Given the description of an element on the screen output the (x, y) to click on. 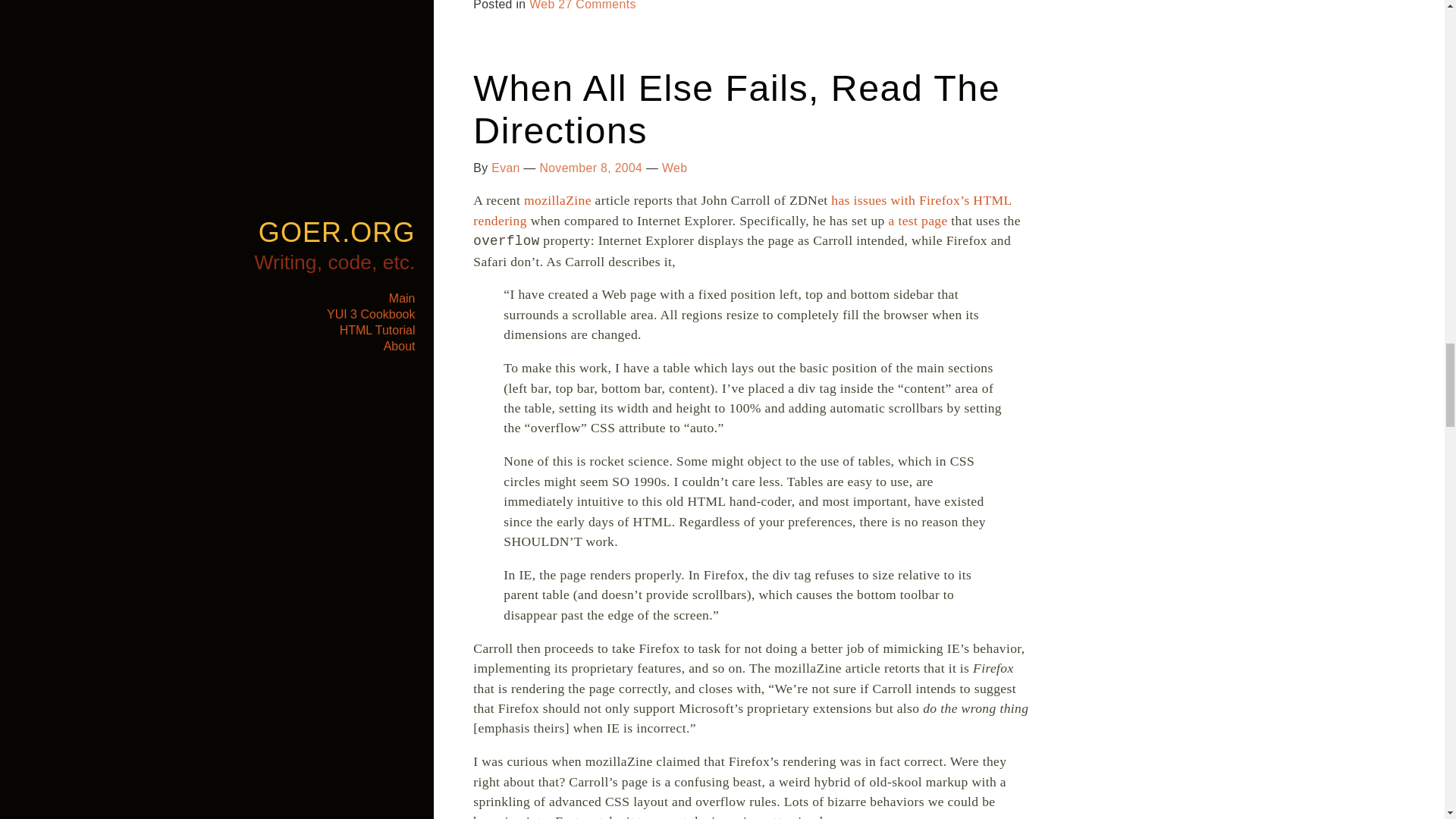
David Coursey Likes Firefox, John Carroll Doesn't Get It (557, 200)
